Given the description of an element on the screen output the (x, y) to click on. 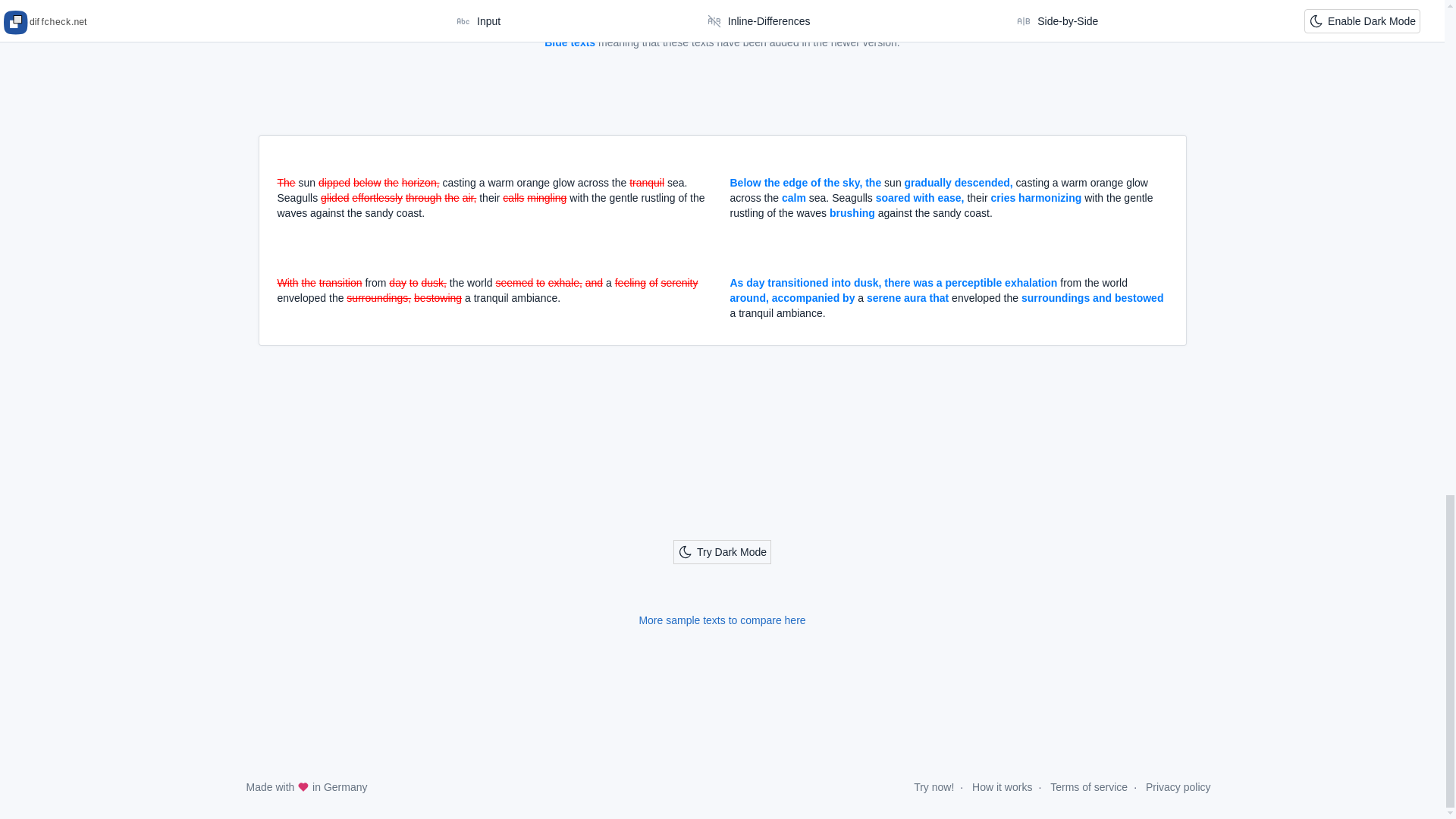
Try Dark Mode (721, 551)
Try now! (933, 787)
How it works (1002, 787)
Terms of service (1087, 787)
Privacy policy (1178, 787)
Made with in Germany (306, 787)
More sample texts to compare here (722, 620)
